Given the description of an element on the screen output the (x, y) to click on. 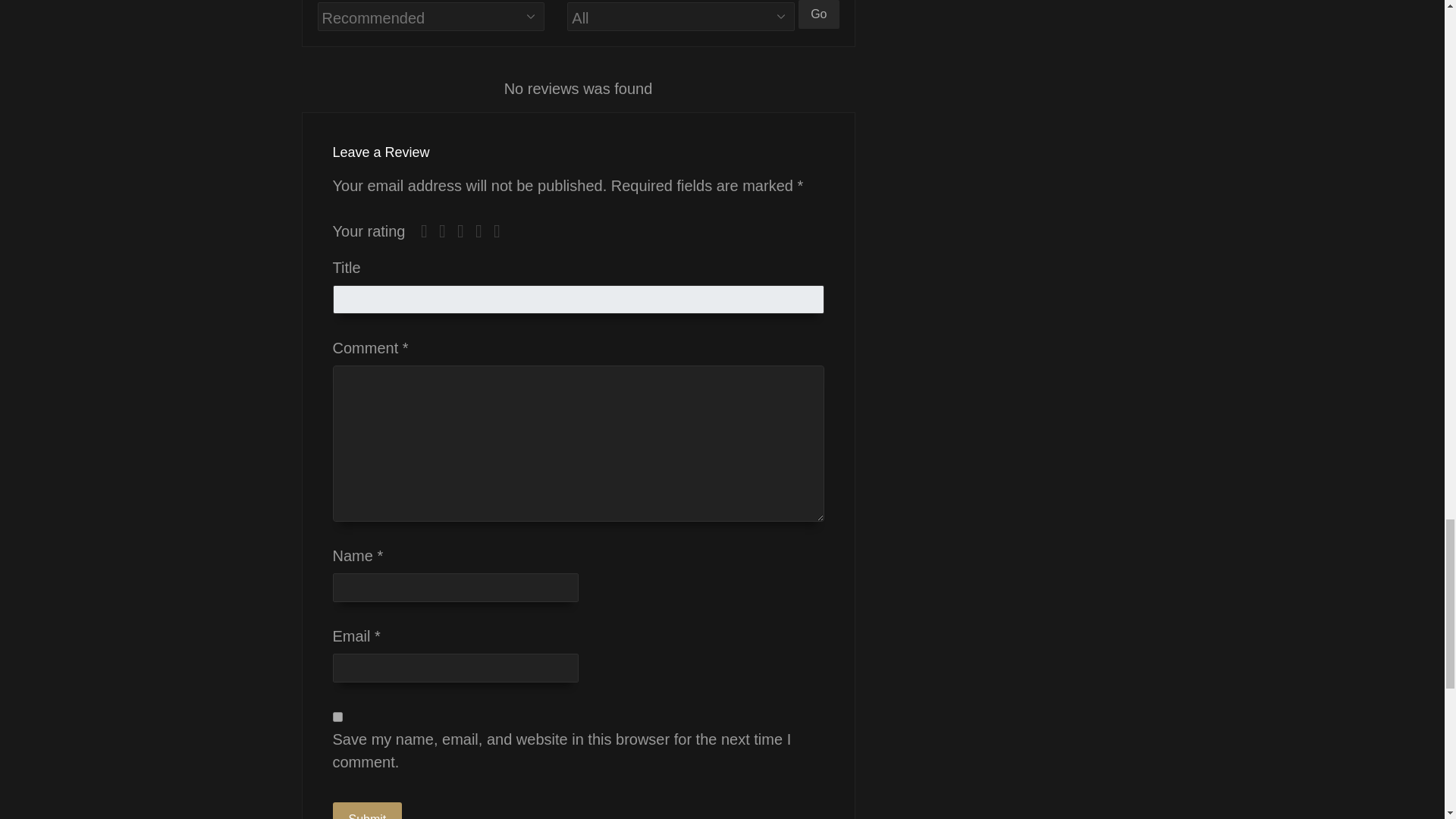
Submit (366, 810)
yes (336, 716)
